Given the description of an element on the screen output the (x, y) to click on. 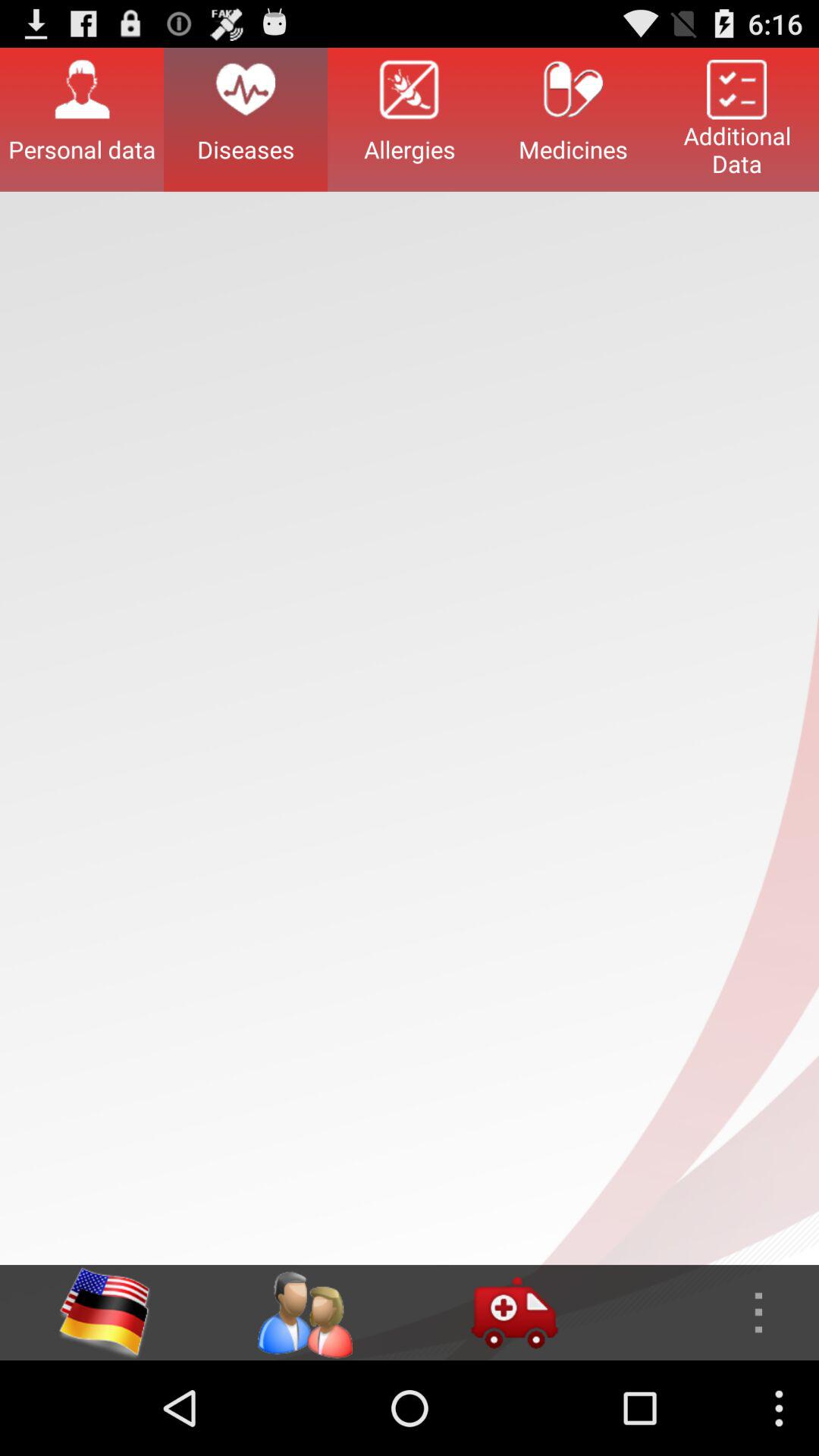
your account information (304, 1312)
